Given the description of an element on the screen output the (x, y) to click on. 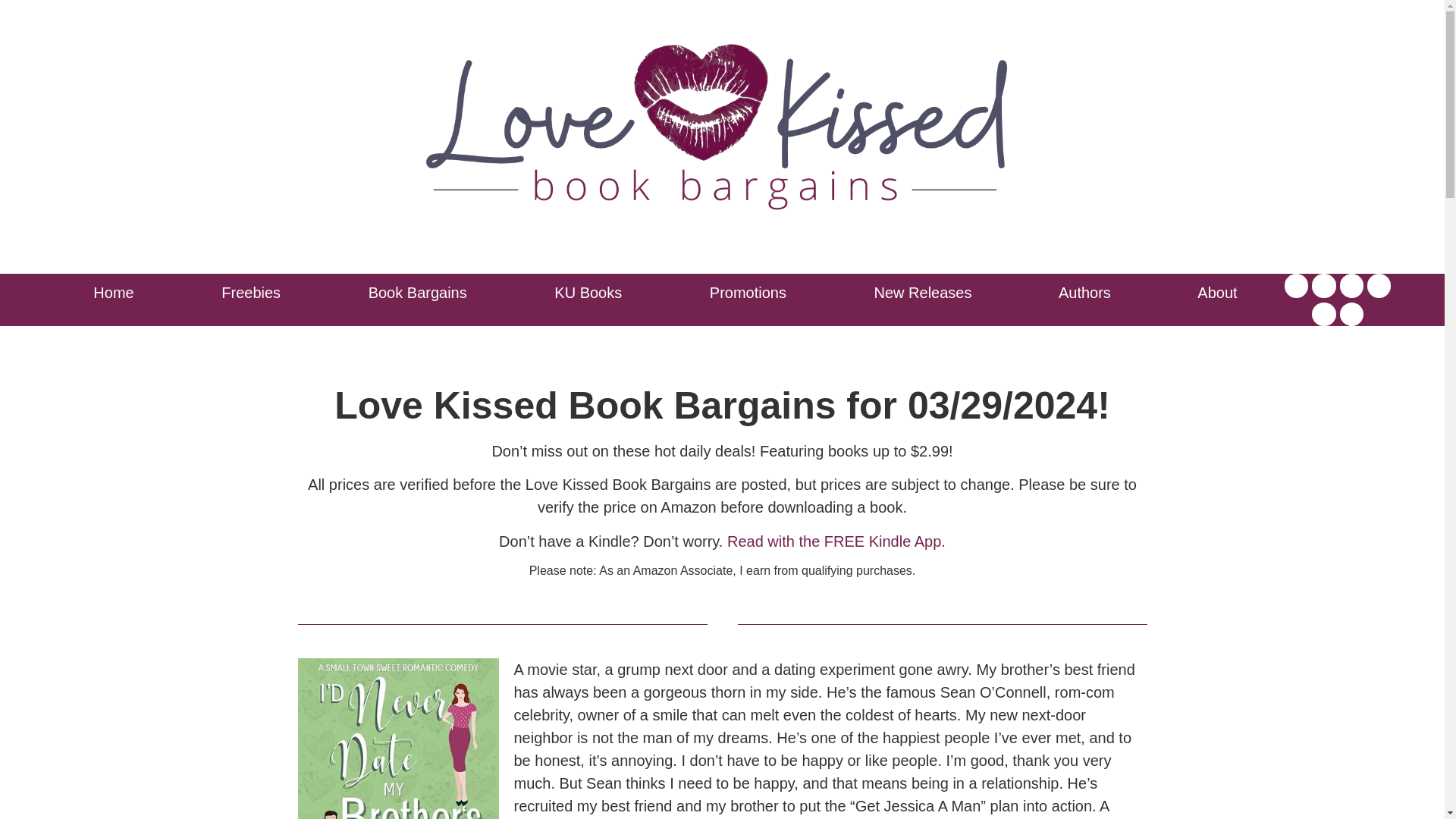
  Book Bargains (413, 292)
  KU Books (584, 292)
  New Releases (918, 292)
  Home (109, 292)
  About (1213, 292)
Read with the FREE Kindle App. (835, 541)
  Authors (1080, 292)
  Freebies (246, 292)
  Promotions (743, 292)
